Given the description of an element on the screen output the (x, y) to click on. 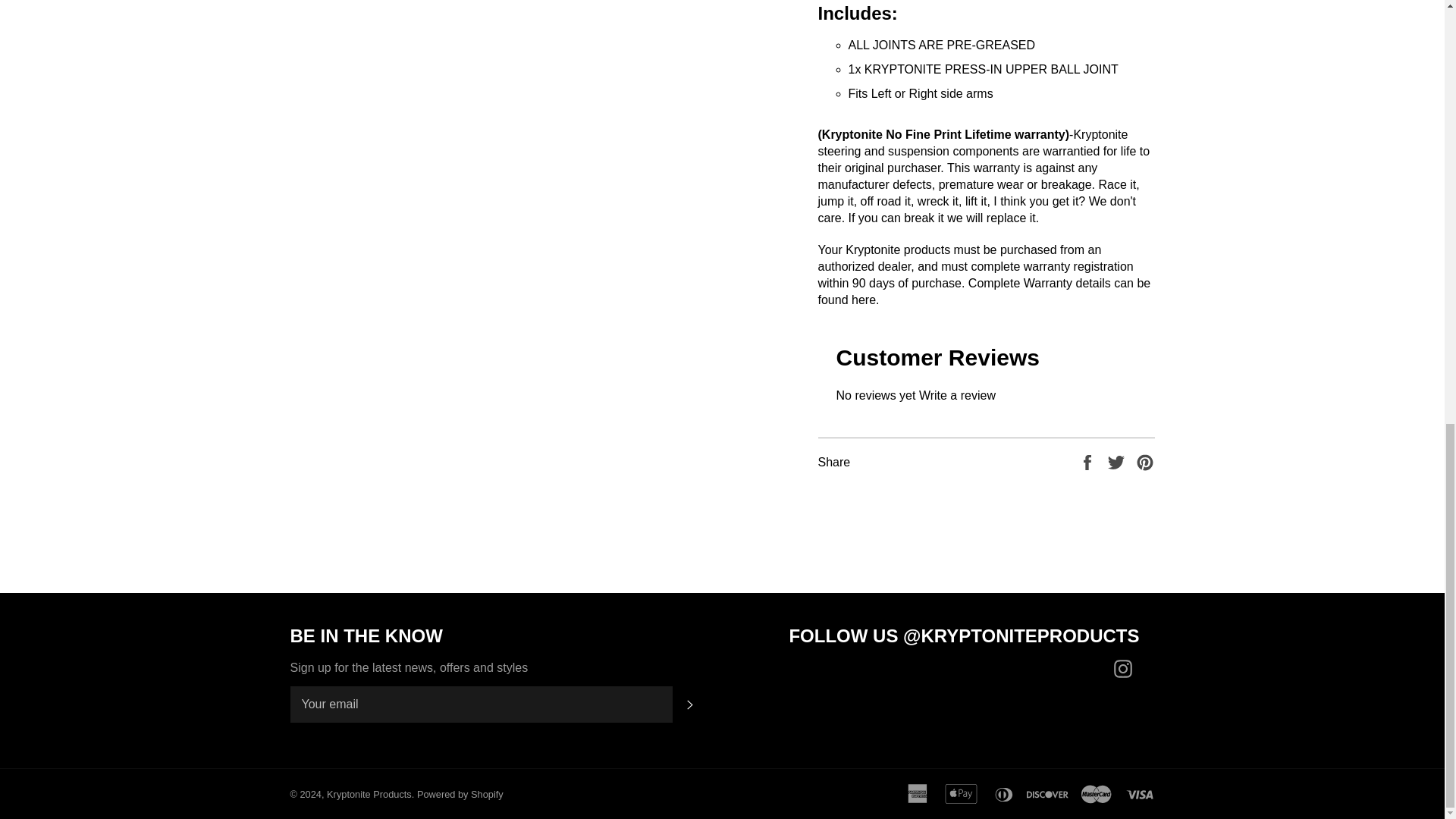
Kryptonite Products on Instagram (1125, 669)
Pin on Pinterest (1144, 461)
Share on Facebook (1088, 461)
Tweet on Twitter (1117, 461)
